Given the description of an element on the screen output the (x, y) to click on. 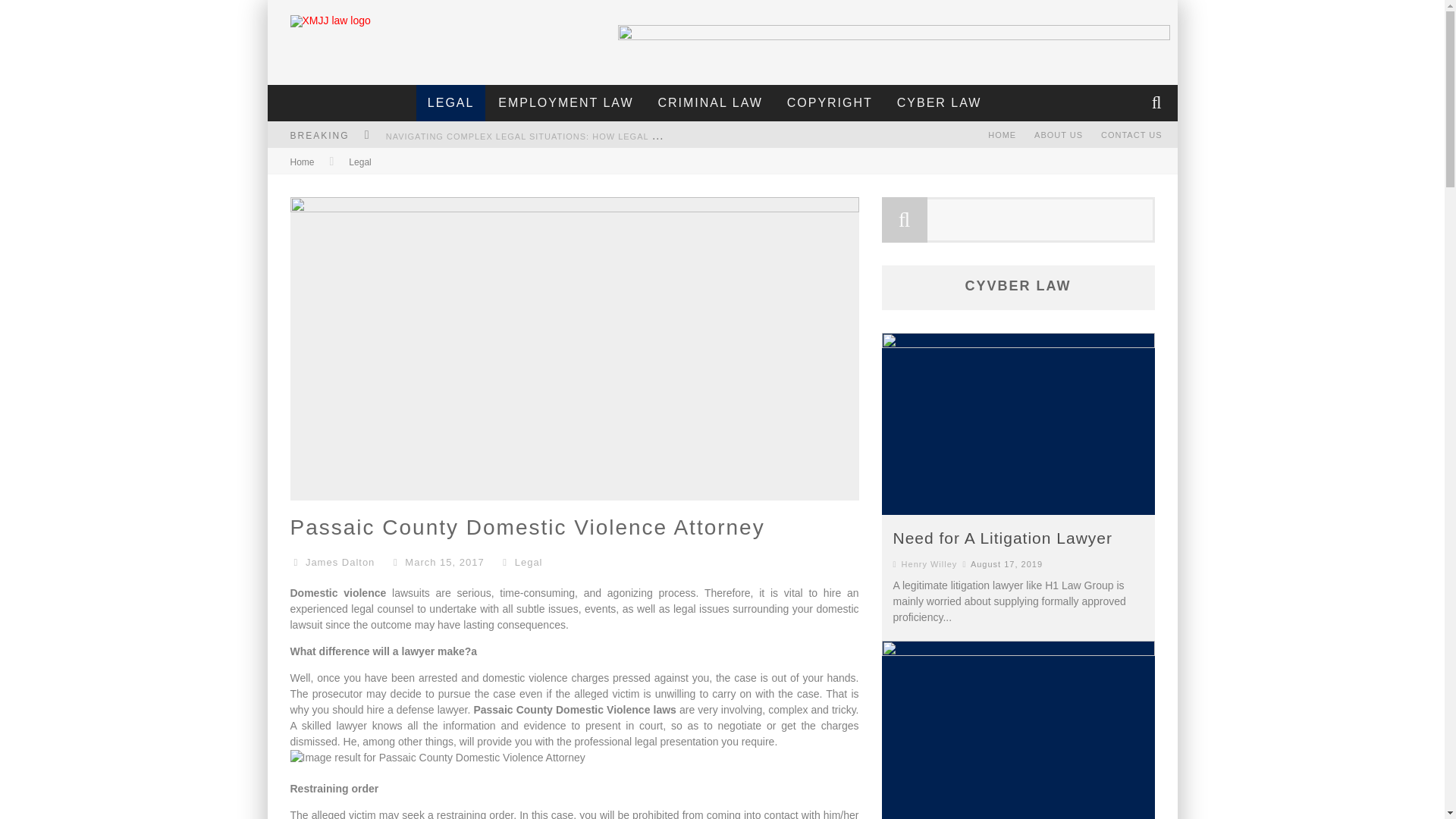
Search (1158, 103)
LEGAL (451, 103)
EMPLOYMENT LAW (565, 103)
